Given the description of an element on the screen output the (x, y) to click on. 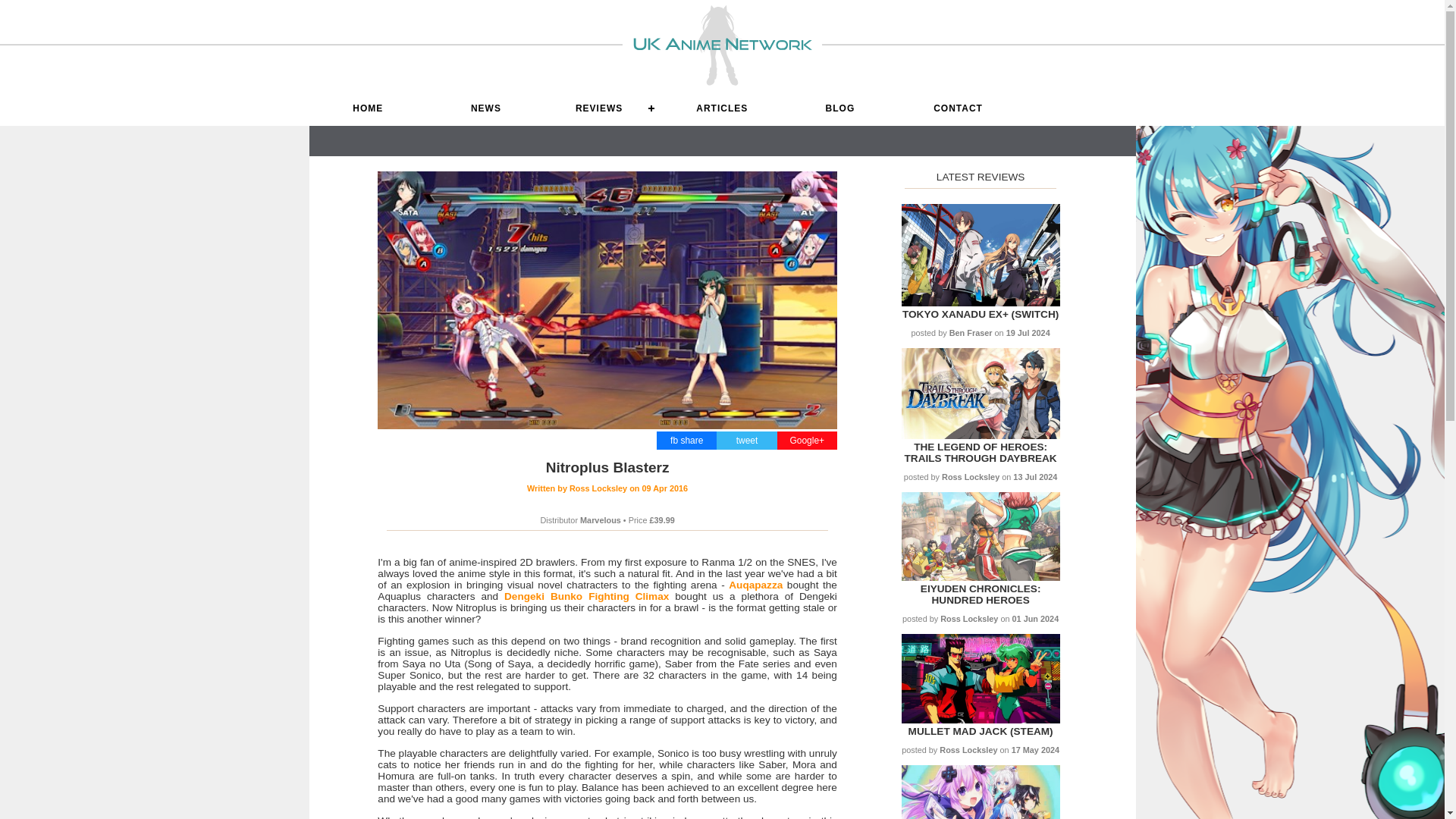
ARTICLES (721, 108)
tweet (747, 439)
Aquapazza (756, 584)
Dengeki Bunko Fighting Climax Review (585, 595)
The Legend of Heroes: Trails Through Daybreak (980, 435)
Eiyuden Chronicles: Hundred Heroes (980, 594)
THE LEGEND OF HEROES: TRAILS THROUGH DAYBREAK (980, 452)
The Legend of Heroes: Trails Through Daybreak (980, 452)
Eiyuden Chronicles: Hundred Heroes (980, 577)
Dengeki Bunko Fighting Climax (585, 595)
NEWS (485, 108)
Ross Locksley (607, 488)
fb share (686, 439)
REVIEWS (603, 108)
CONTACT (958, 108)
